Given the description of an element on the screen output the (x, y) to click on. 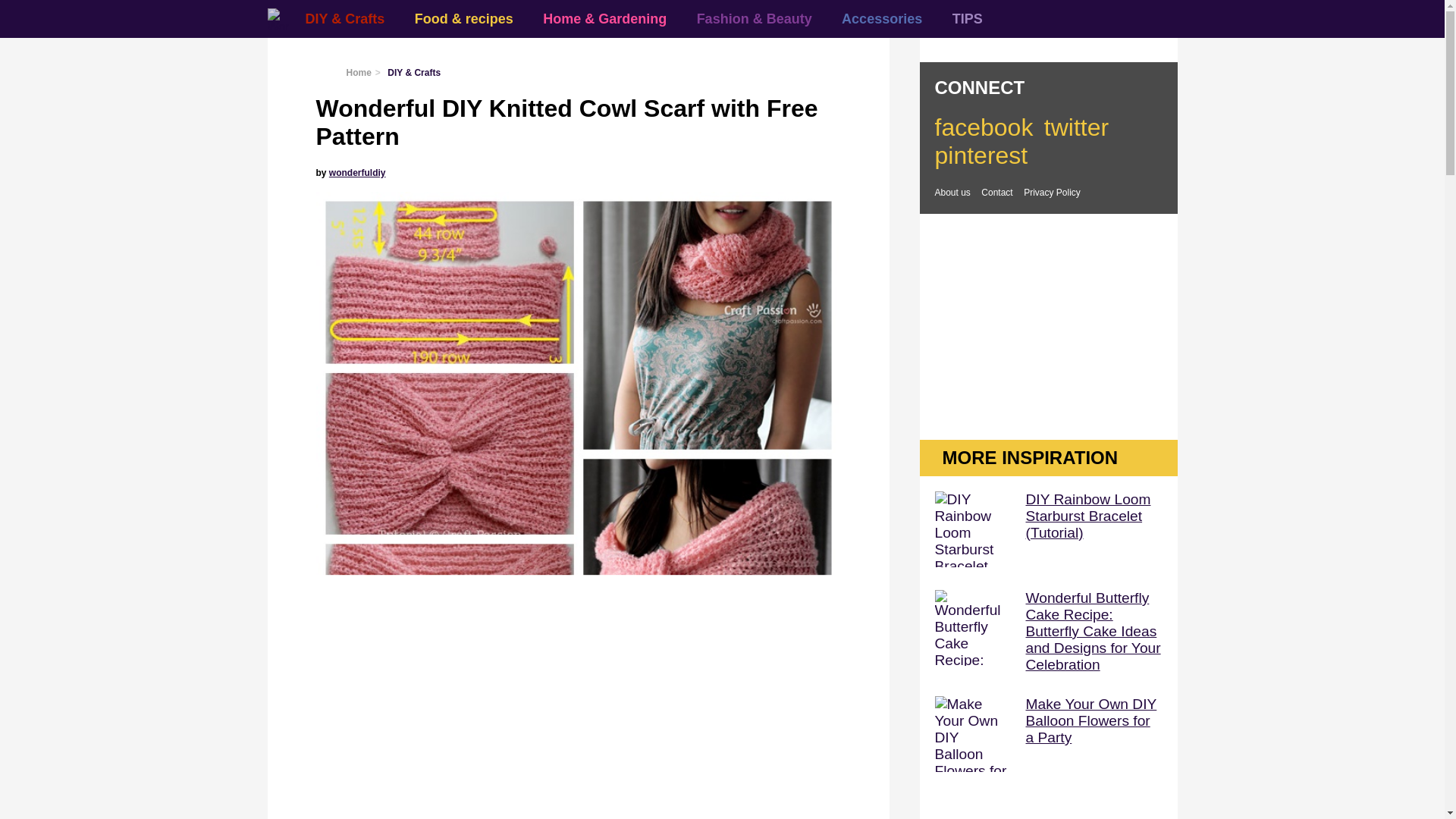
facebook (983, 126)
wonderfuldiy (357, 172)
Home (358, 72)
Accessories (882, 18)
twitter (1075, 126)
wonderfuldiy (357, 172)
TIPS (967, 18)
